Given the description of an element on the screen output the (x, y) to click on. 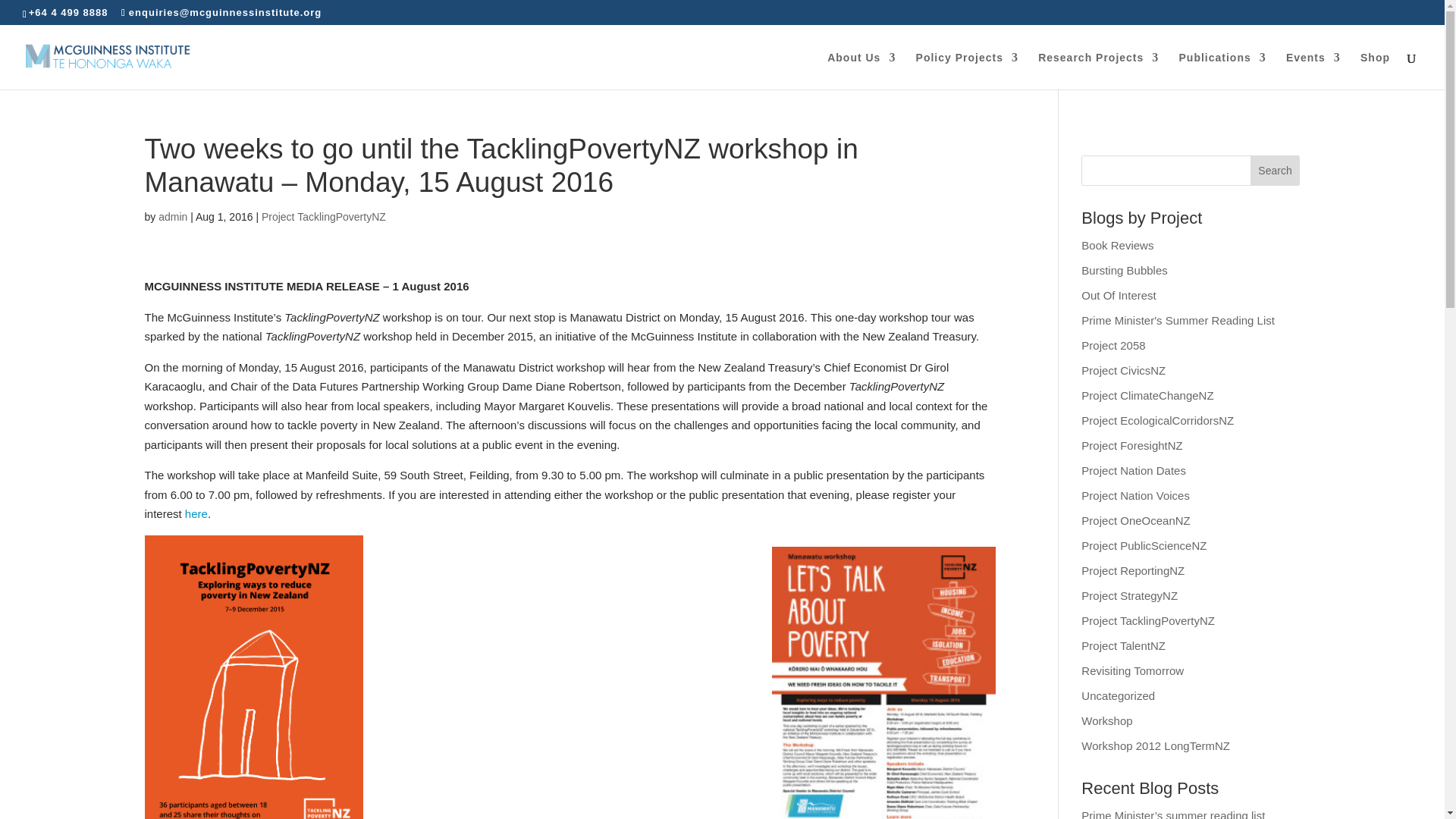
Posts by admin (172, 216)
Publications (1221, 69)
About Us (861, 69)
Policy Projects (966, 69)
Research Projects (1098, 69)
Search (1275, 170)
